Given the description of an element on the screen output the (x, y) to click on. 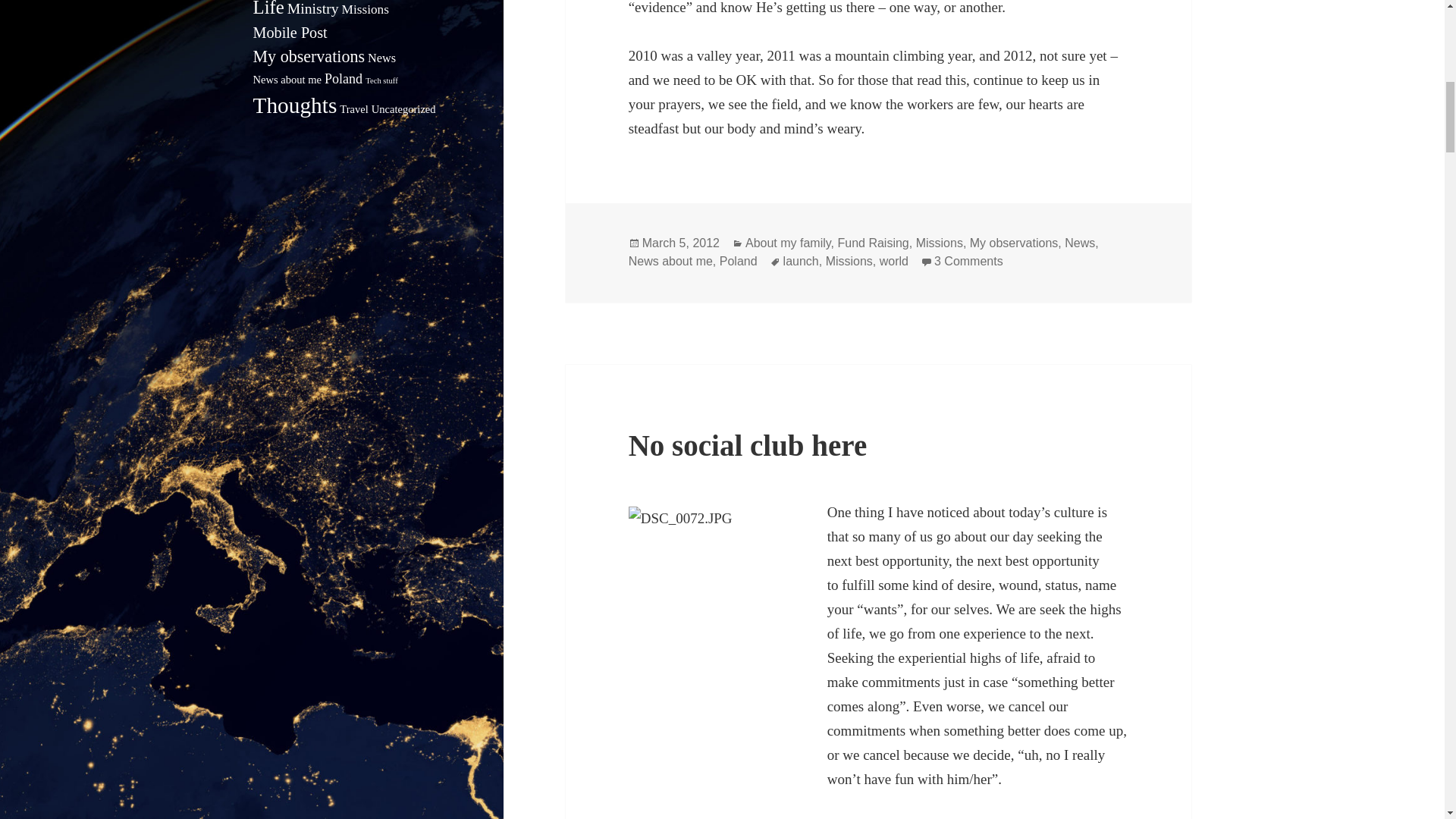
My observations (309, 56)
Mobile Post (290, 32)
Life (268, 8)
Tech stuff (381, 80)
Fund Raising (872, 243)
News (382, 57)
March 5, 2012 (680, 243)
My observations (1013, 243)
Travel (353, 109)
Poland (343, 78)
